Given the description of an element on the screen output the (x, y) to click on. 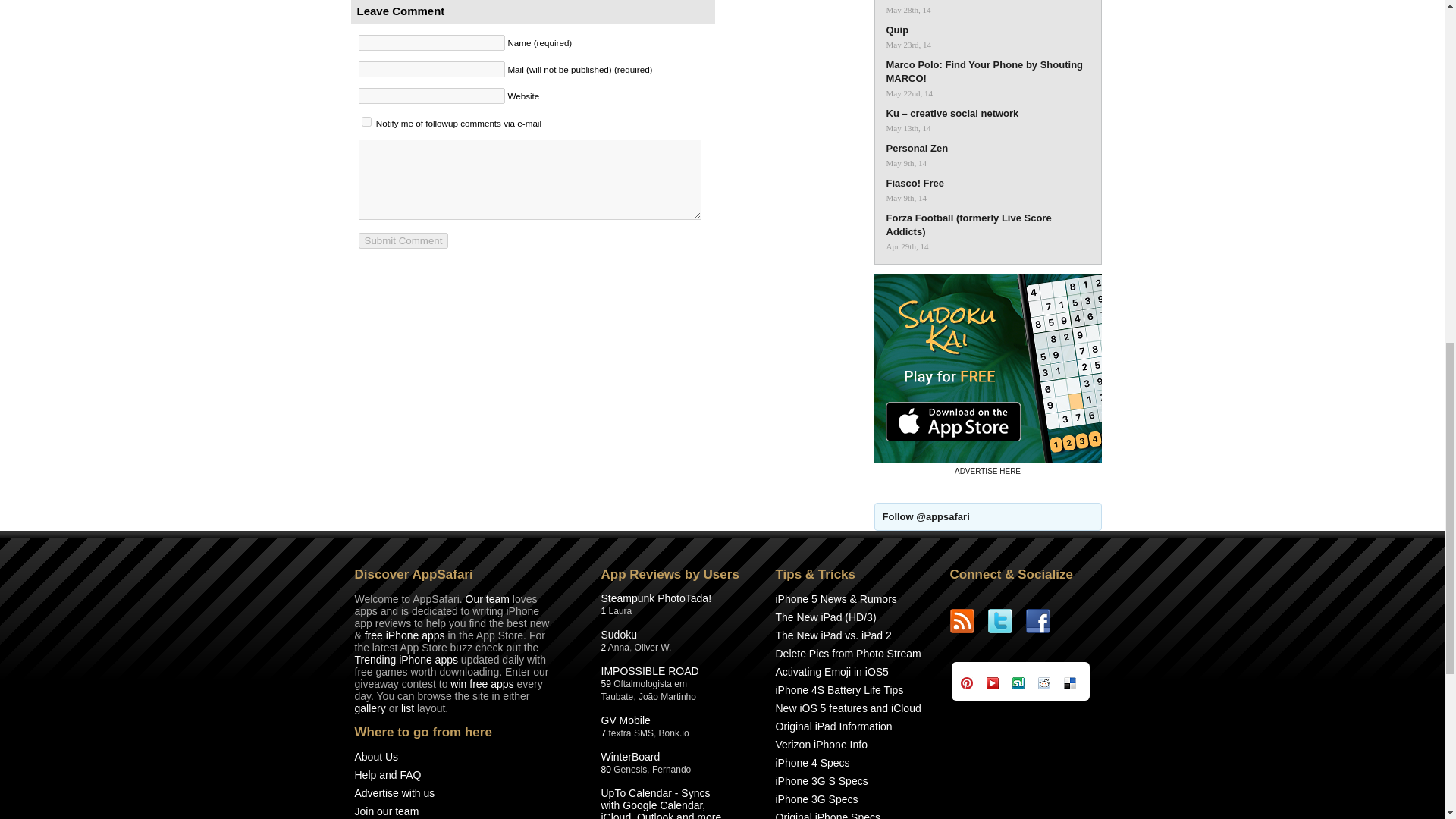
subscribe (366, 121)
Submit Comment (403, 240)
Submit Comment (403, 240)
